Given the description of an element on the screen output the (x, y) to click on. 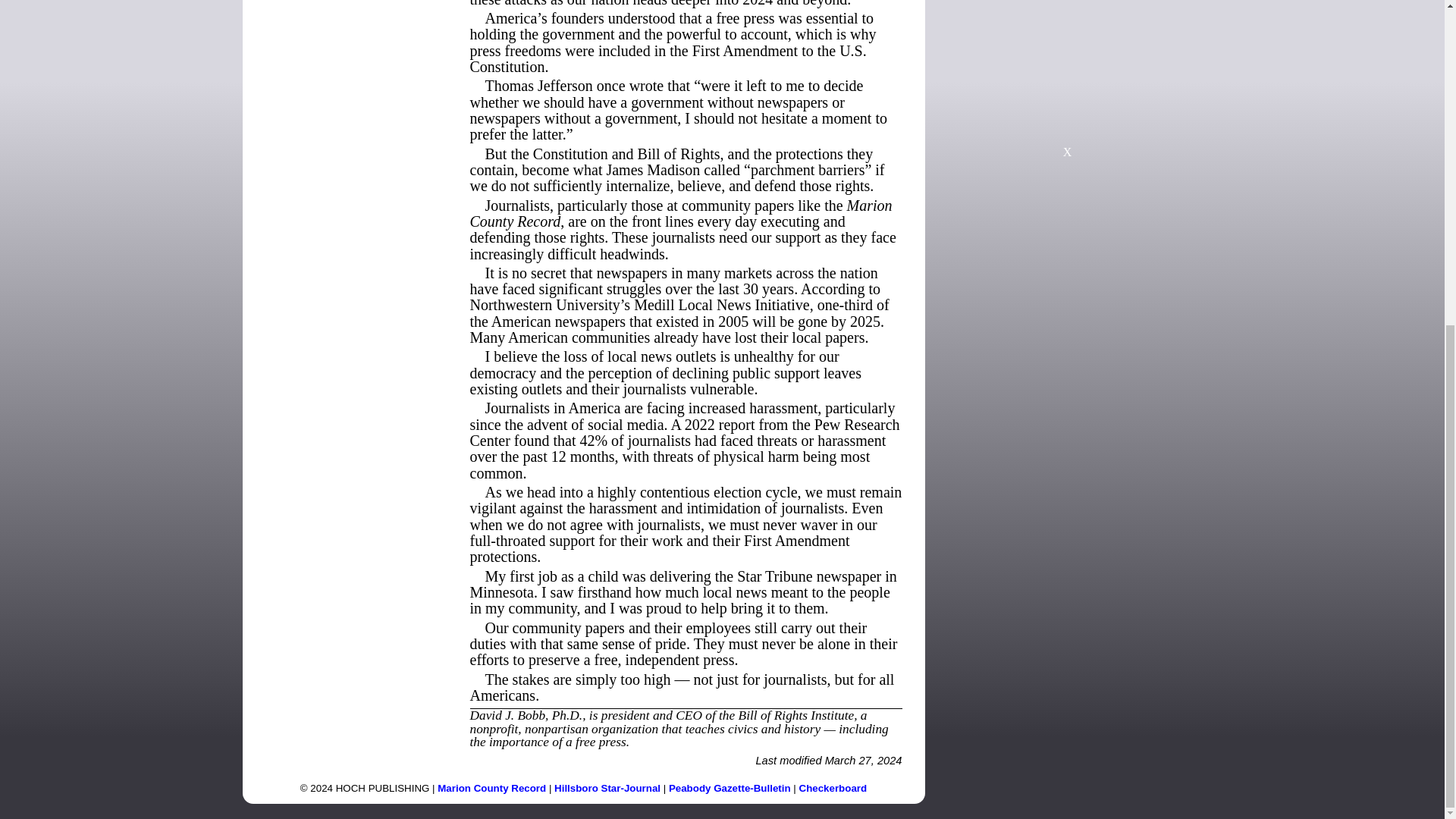
Hillsboro Star-Journal (607, 787)
Advertisement (1067, 76)
Marion County Record (492, 787)
Peabody Gazette-Bulletin (729, 787)
Checkerboard (833, 787)
